Given the description of an element on the screen output the (x, y) to click on. 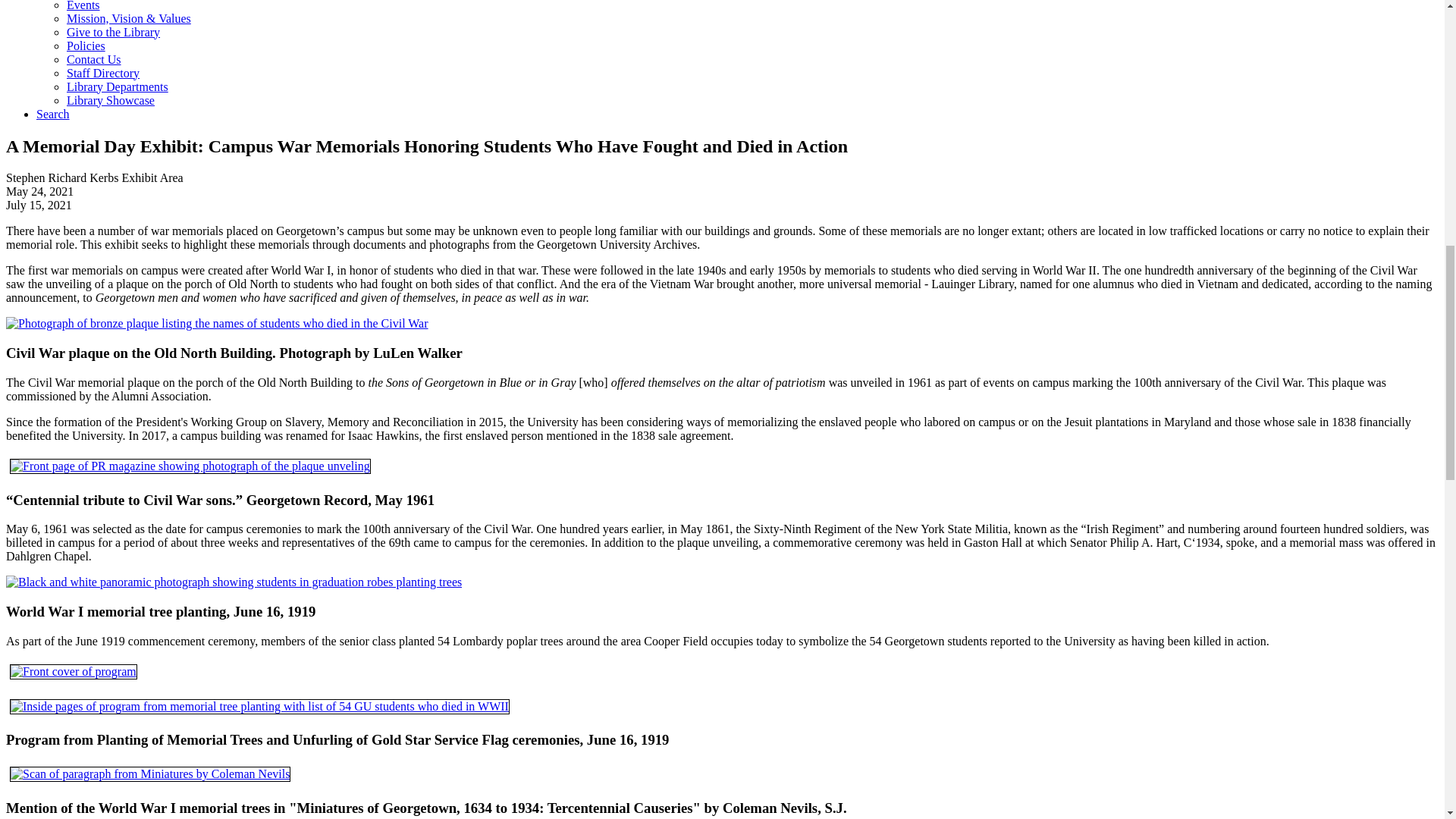
1919 tree planting (233, 581)
Contact Us (93, 59)
1919 memorial trees program (259, 706)
Civil War plaque (216, 323)
1919 memorial trees program (73, 671)
1919 memorial trees program (259, 706)
Policies (85, 45)
Library Departments (117, 86)
Events (83, 5)
Search (52, 113)
Civil War plaque (216, 323)
Staff Directory (102, 72)
1919 memorial trees program (73, 671)
Give to the Library (113, 31)
